Given the description of an element on the screen output the (x, y) to click on. 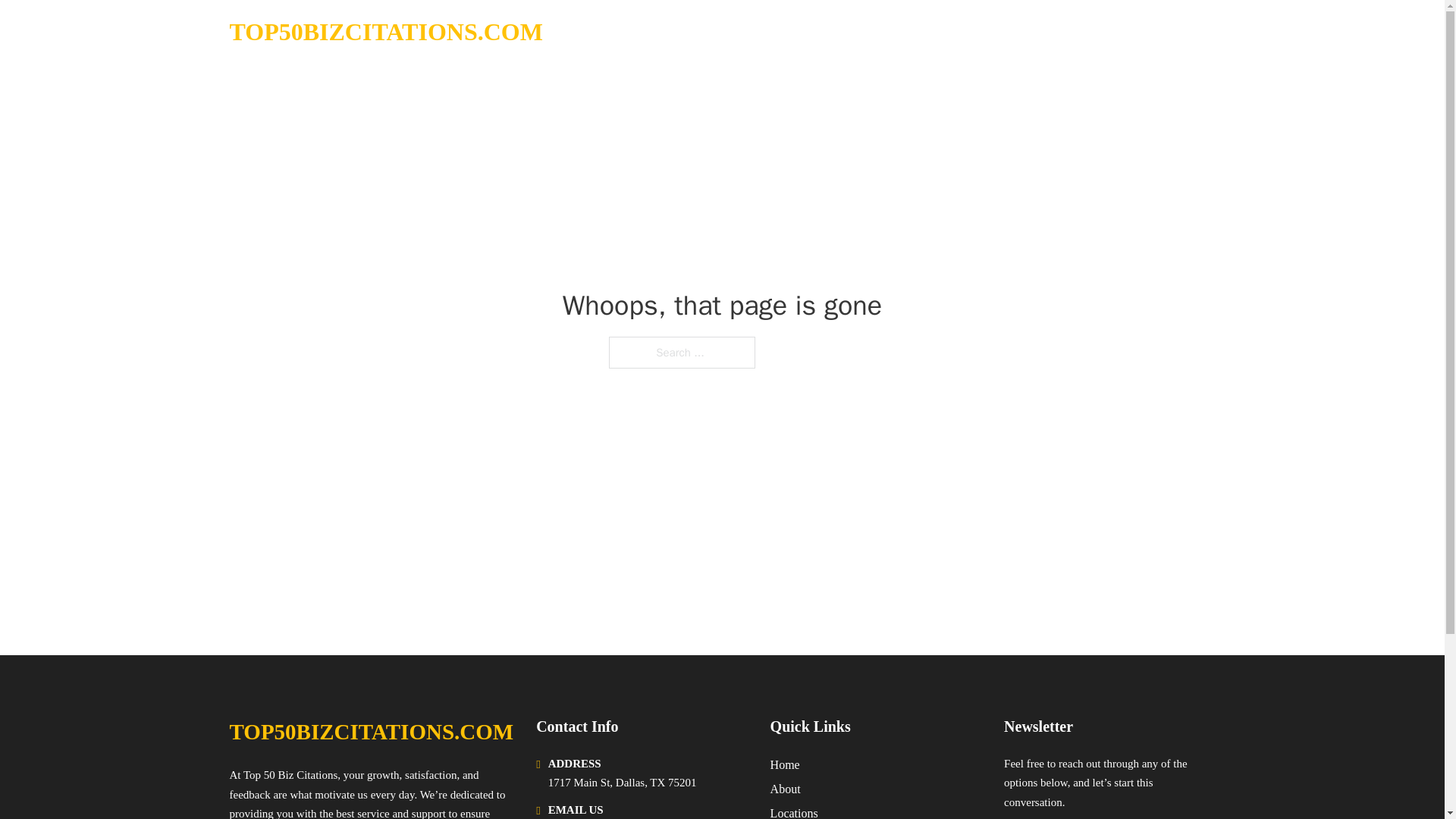
Locations (794, 811)
Home (784, 764)
TOP50BIZCITATIONS.COM (370, 732)
LOCATIONS (1098, 31)
HOME (1025, 31)
About (785, 788)
TOP50BIZCITATIONS.COM (384, 31)
